Given the description of an element on the screen output the (x, y) to click on. 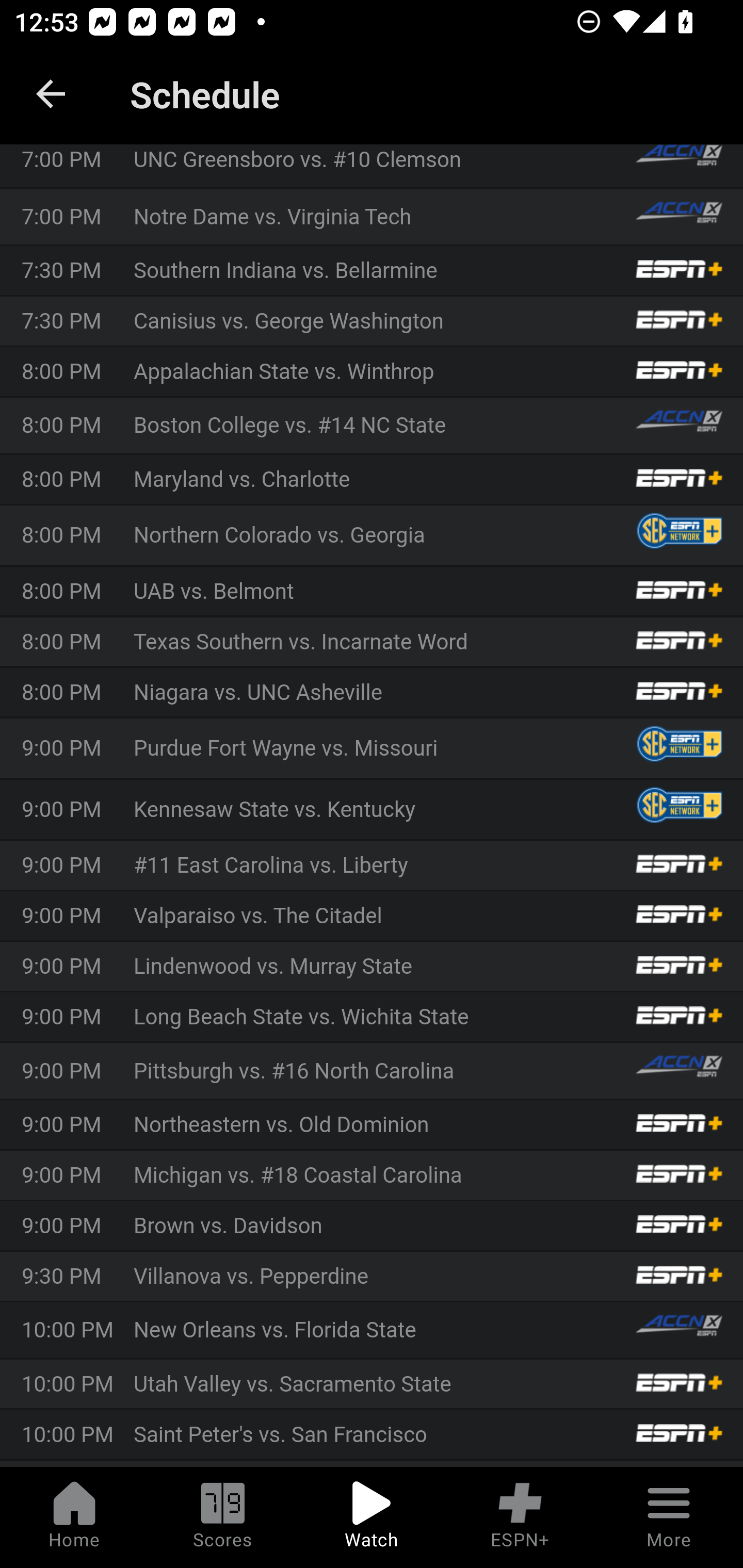
back.button (50, 93)
Home (74, 1517)
Scores (222, 1517)
ESPN+ (519, 1517)
More (668, 1517)
